Given the description of an element on the screen output the (x, y) to click on. 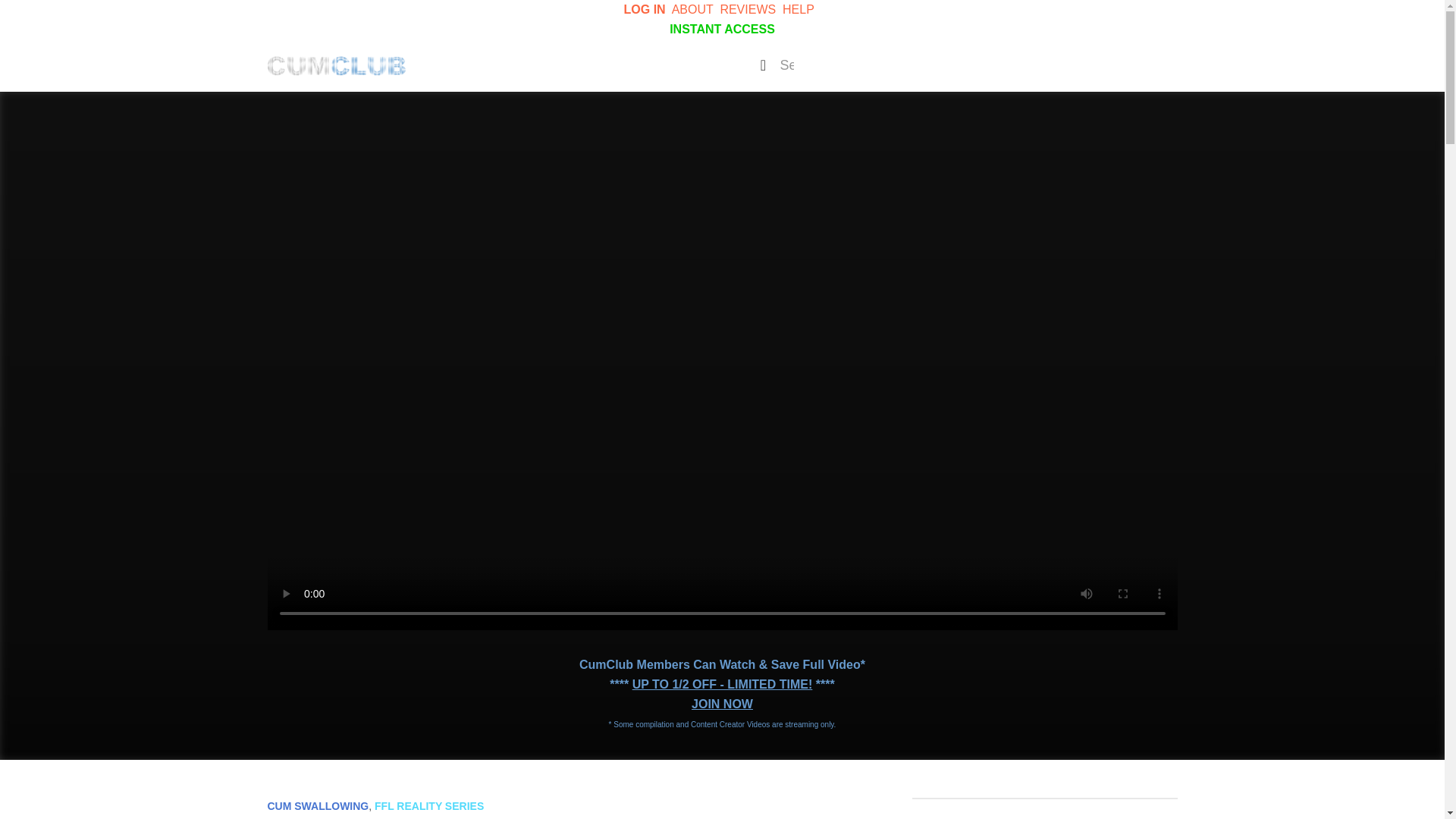
REVIEWS (747, 9)
CUM SWALLOWING (317, 806)
INSTANT ACCESS (721, 29)
ABOUT (692, 9)
HELP (798, 9)
FFL REALITY SERIES (428, 806)
LOG IN (644, 9)
